Given the description of an element on the screen output the (x, y) to click on. 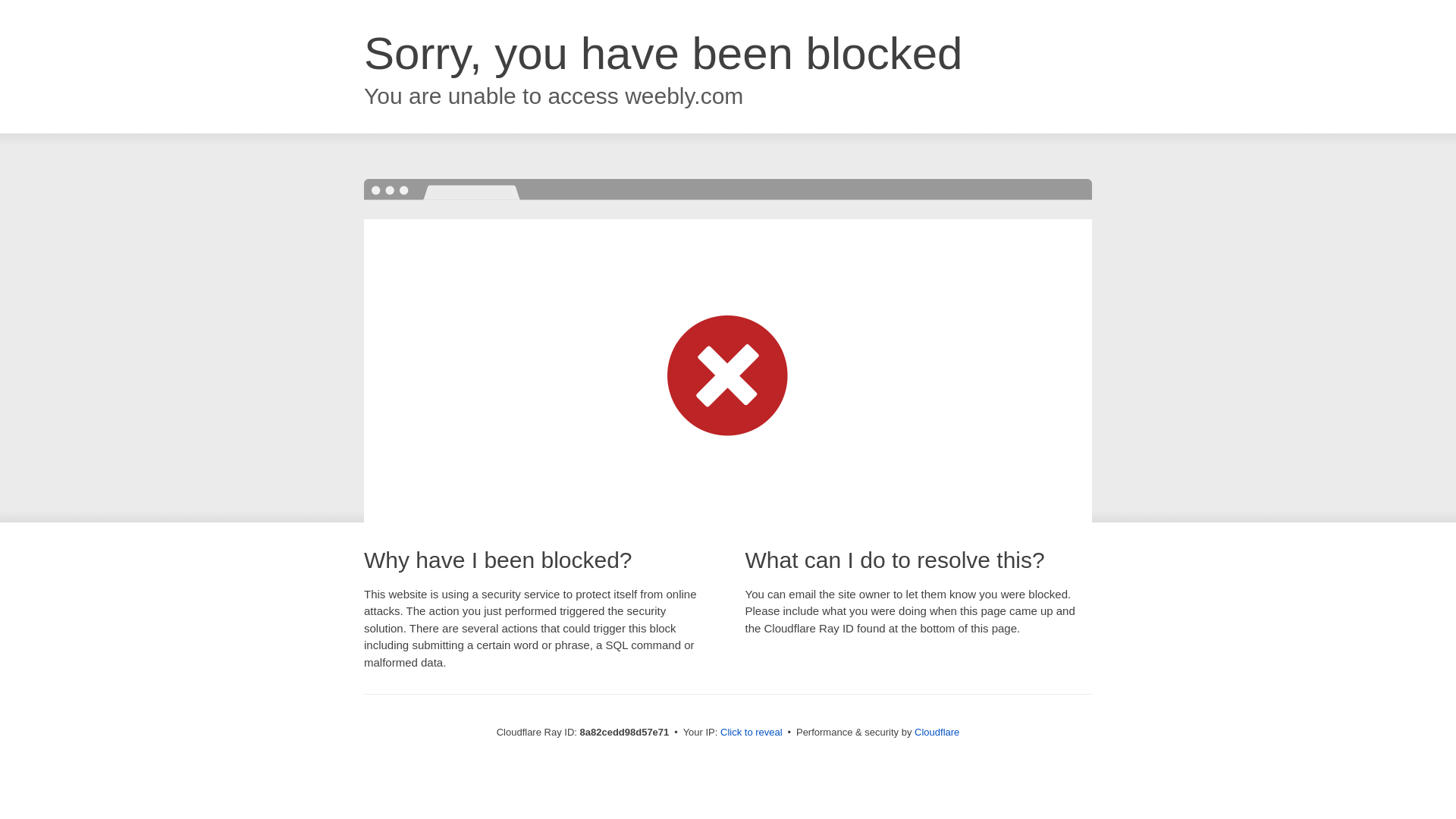
Click to reveal (751, 732)
Cloudflare (936, 731)
